Given the description of an element on the screen output the (x, y) to click on. 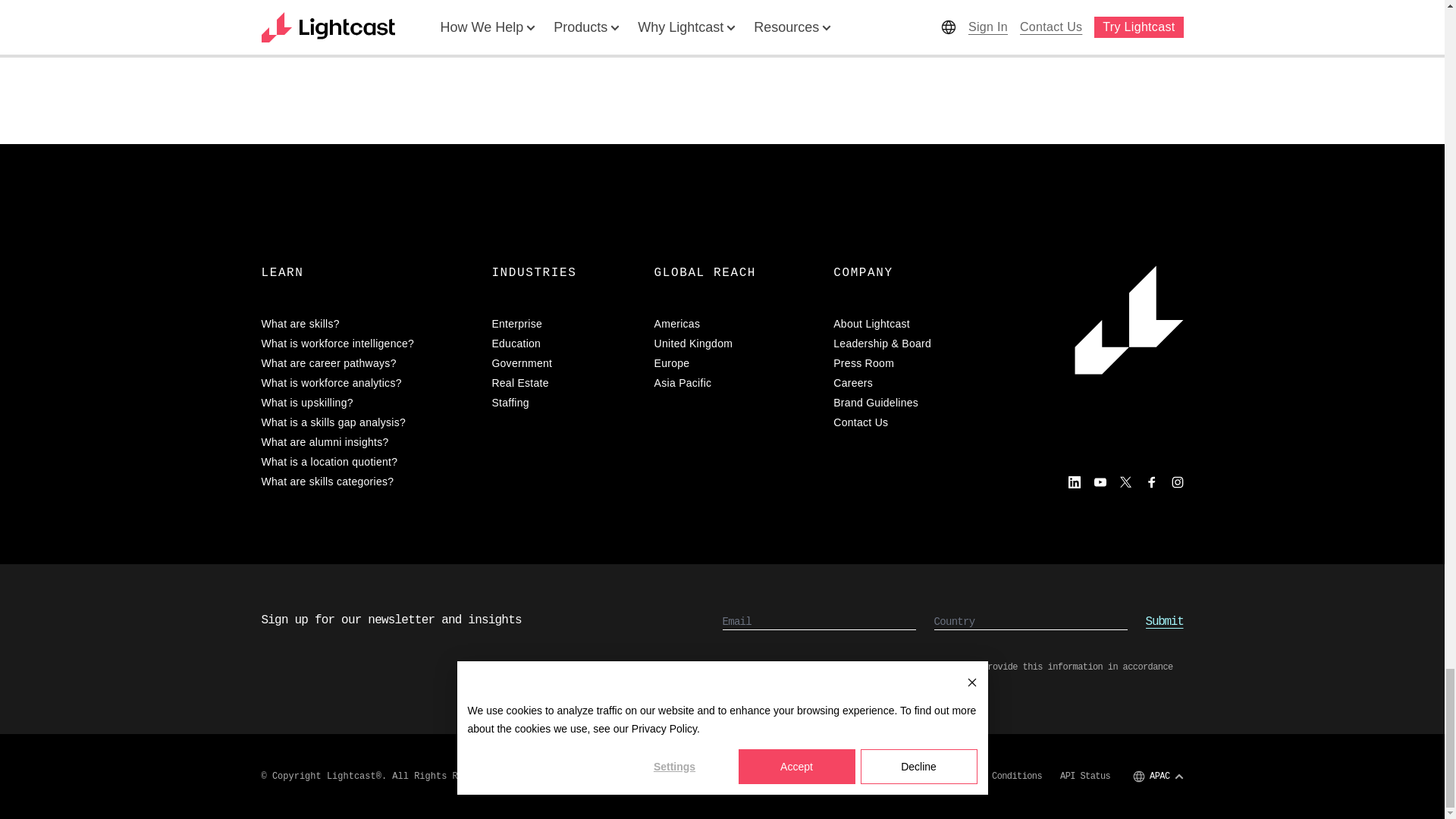
What are skills categories? (366, 481)
What is workforce intelligence? (366, 343)
What are career pathways? (366, 363)
Enterprise (563, 323)
What are skills? (366, 323)
What is a location quotient? (366, 461)
What is a skills gap analysis? (366, 422)
What is workforce analytics? (366, 382)
Submit (1164, 621)
What are alumni insights? (366, 441)
What is upskilling? (366, 402)
